Given the description of an element on the screen output the (x, y) to click on. 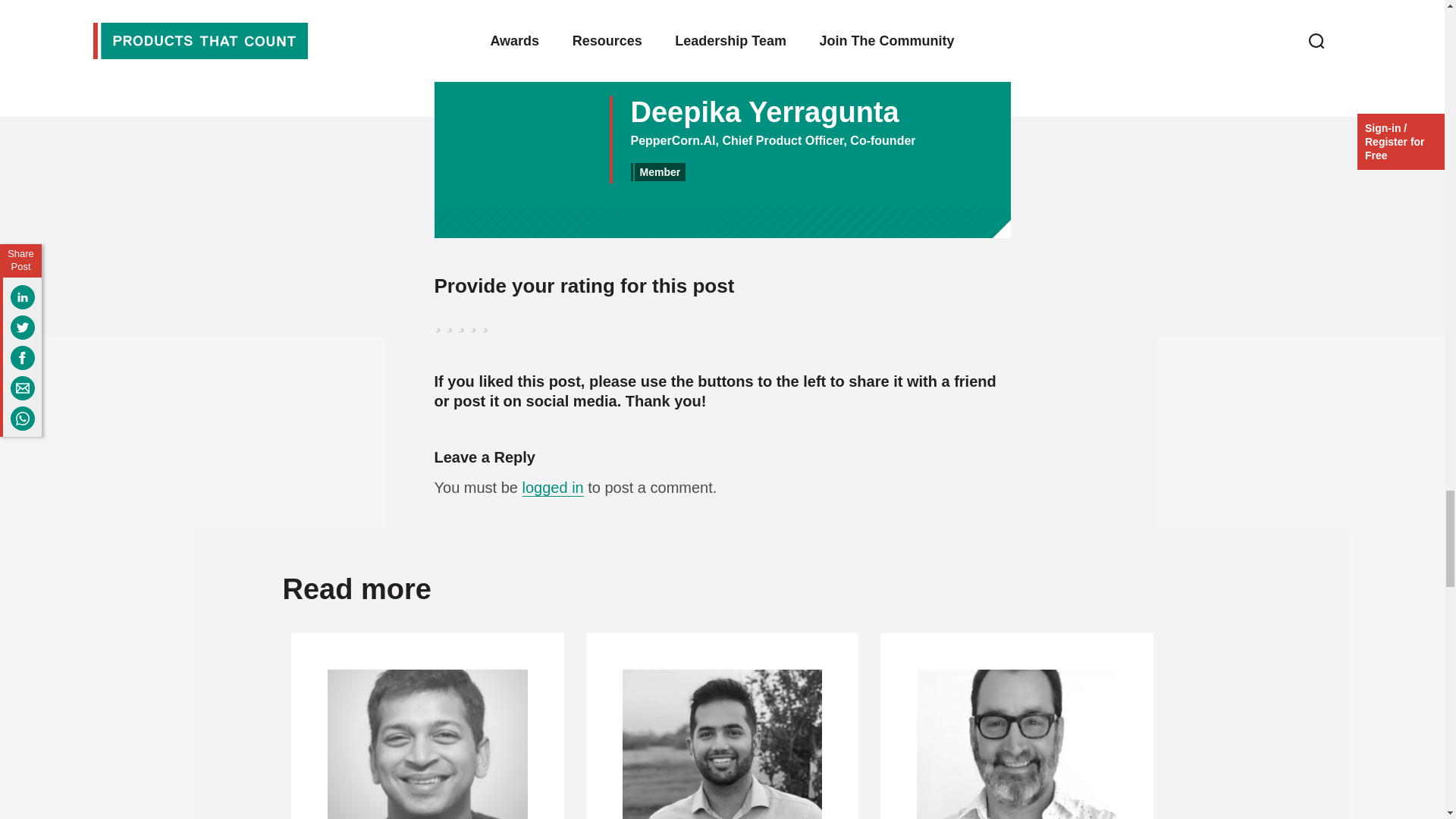
logged in (552, 487)
